Given the description of an element on the screen output the (x, y) to click on. 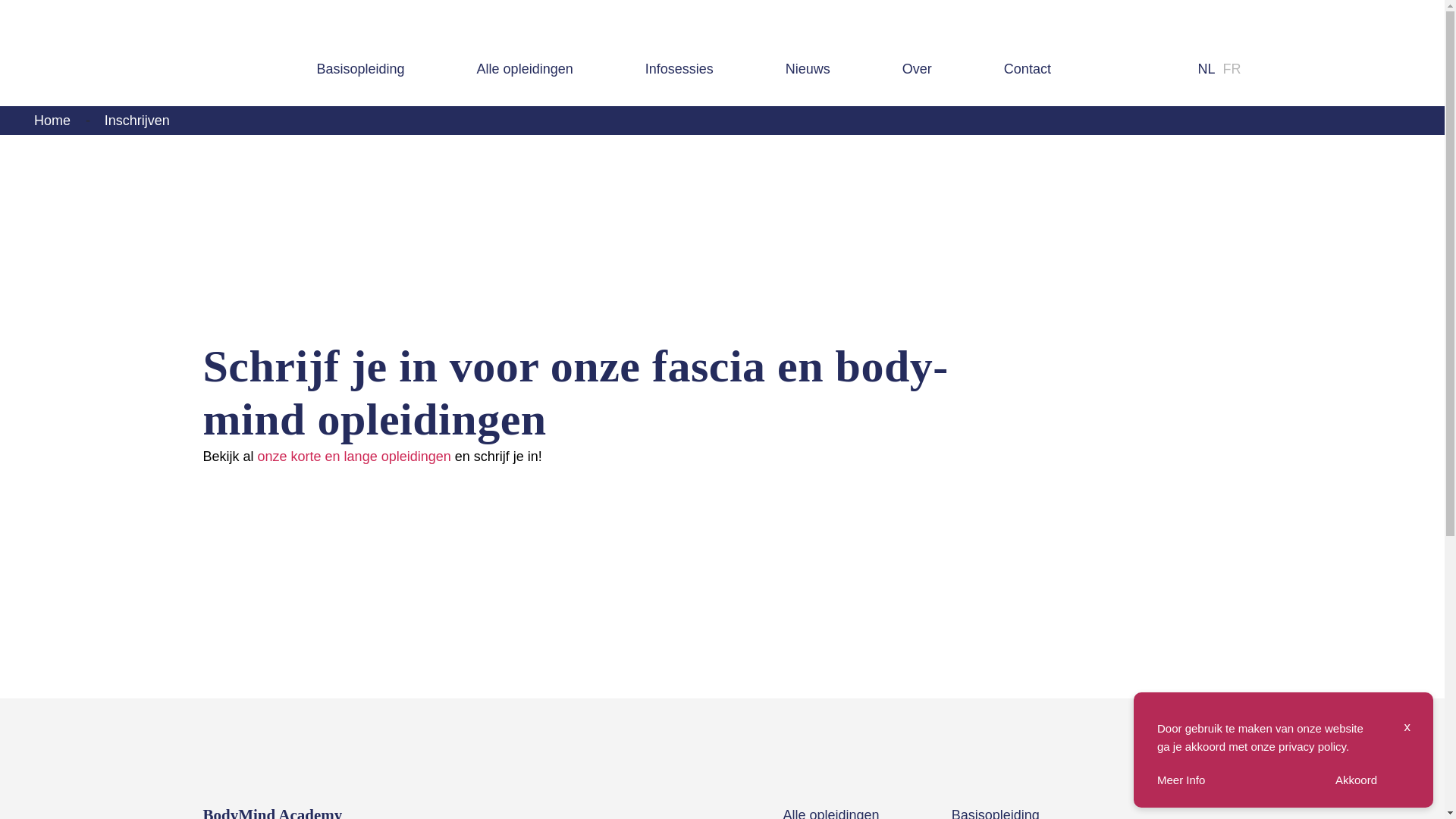
NL Element type: text (1205, 68)
Contact Element type: text (1027, 68)
Akkoord Element type: text (1356, 780)
Over Element type: text (916, 68)
Basisopleiding Element type: text (360, 68)
Nieuws Element type: text (807, 68)
Alle opleidingen Element type: text (524, 68)
Meer Info Element type: text (1180, 780)
Inschrijven Element type: text (137, 120)
Infosessies Element type: text (679, 68)
Home Element type: text (52, 120)
onze korte en lange opleidingen Element type: text (354, 456)
FR Element type: text (1231, 68)
